Given the description of an element on the screen output the (x, y) to click on. 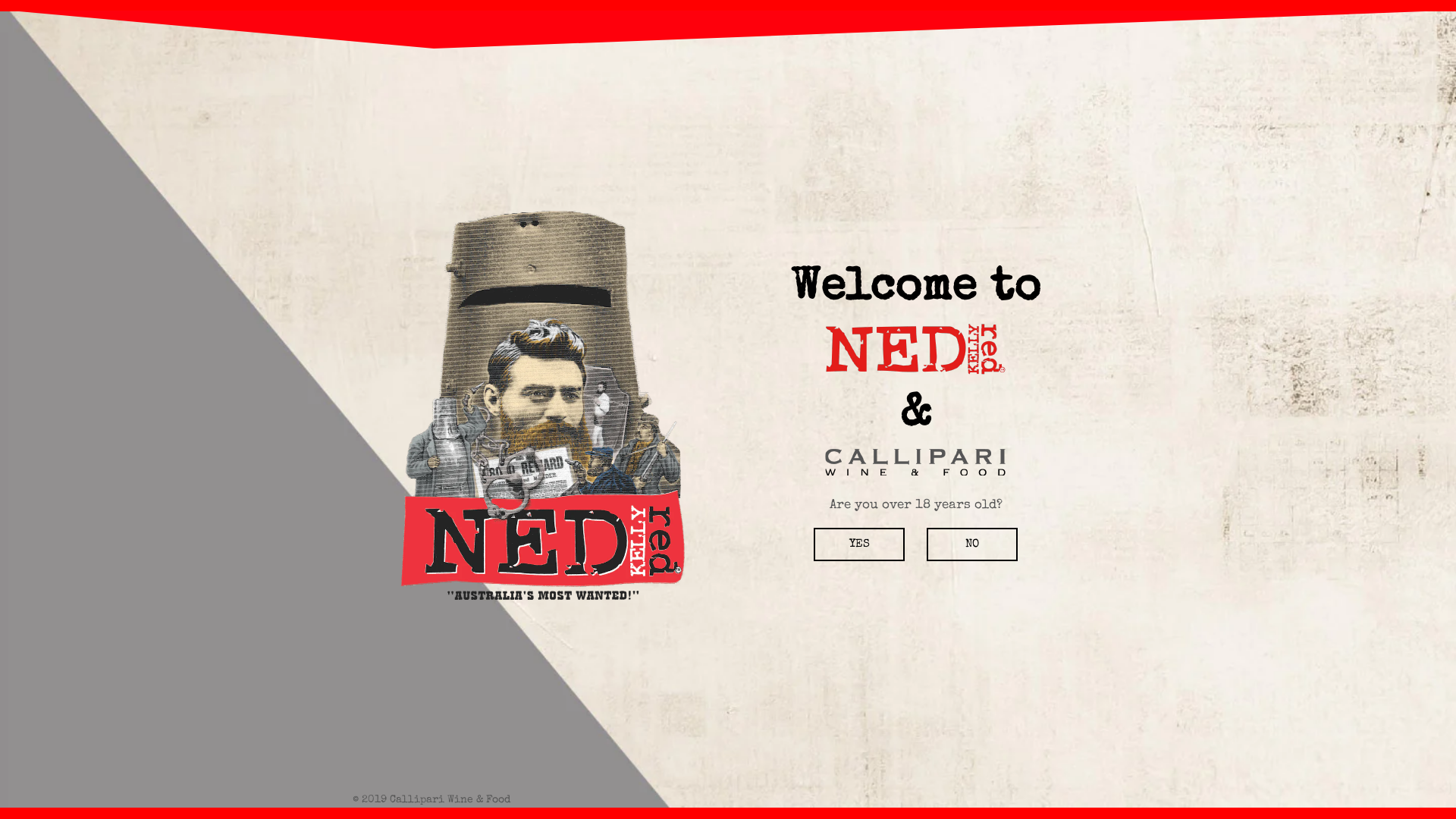
YES Element type: text (858, 543)
NO Element type: text (971, 543)
